Given the description of an element on the screen output the (x, y) to click on. 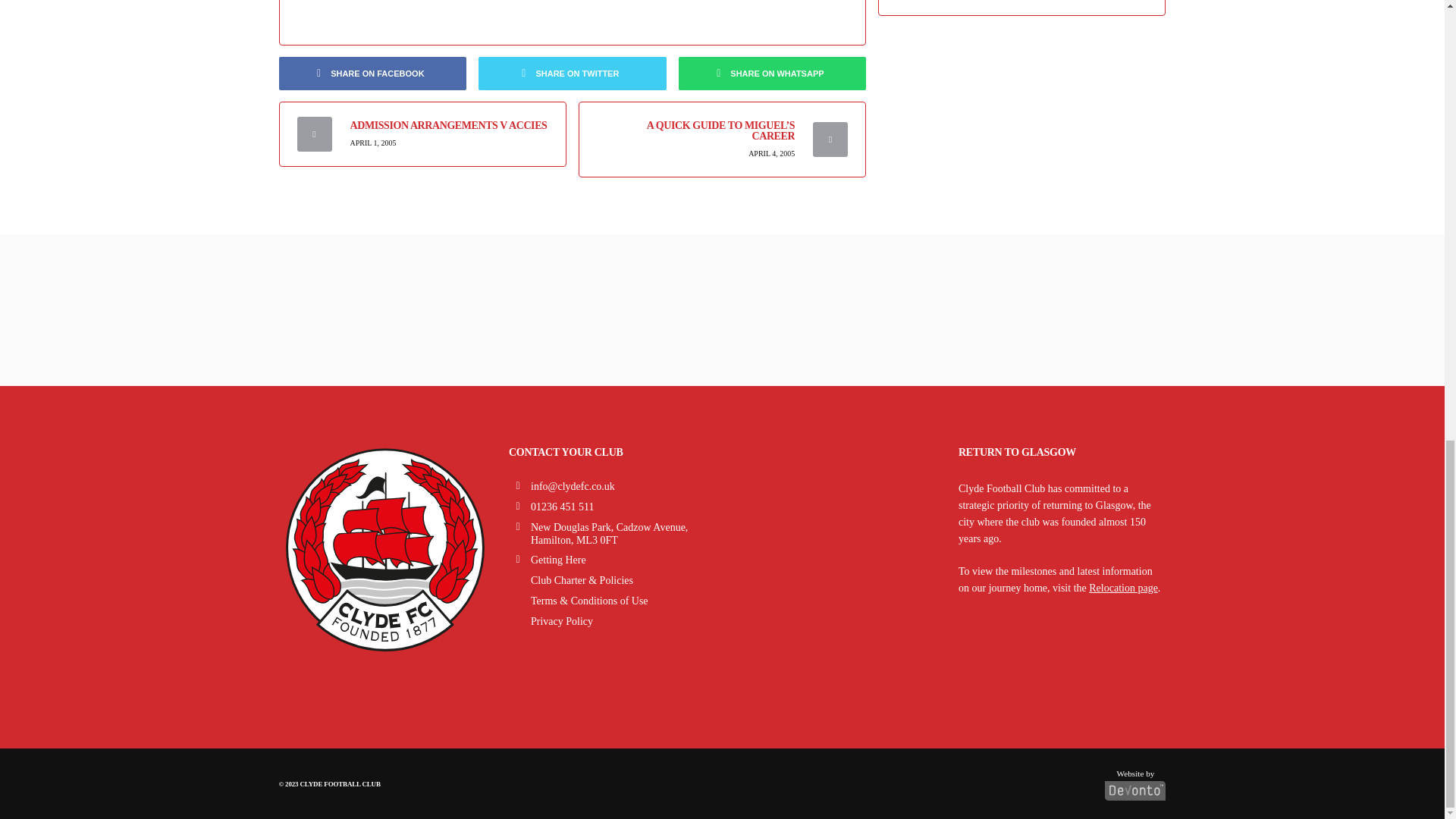
Devonto Web Design Cumbernauld (1135, 781)
